Given the description of an element on the screen output the (x, y) to click on. 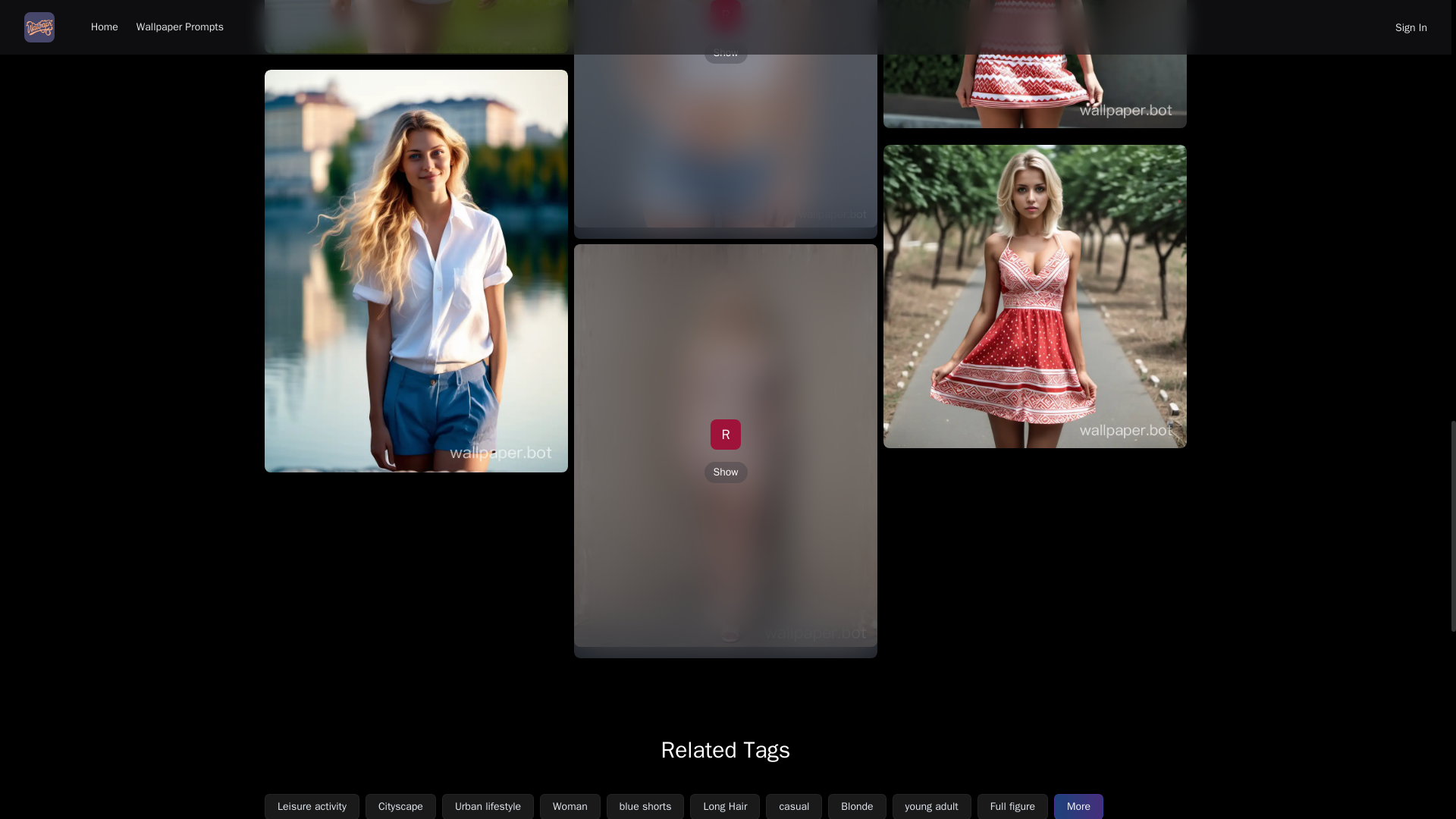
Long Hair (725, 806)
blue shorts (645, 806)
Urban lifestyle (488, 806)
Leisure activity (311, 806)
Woman (569, 806)
Full figure (1012, 806)
Cityscape (400, 806)
More (1078, 806)
casual (793, 806)
Show (724, 52)
young adult (931, 806)
Show (724, 472)
Blonde (856, 806)
